Given the description of an element on the screen output the (x, y) to click on. 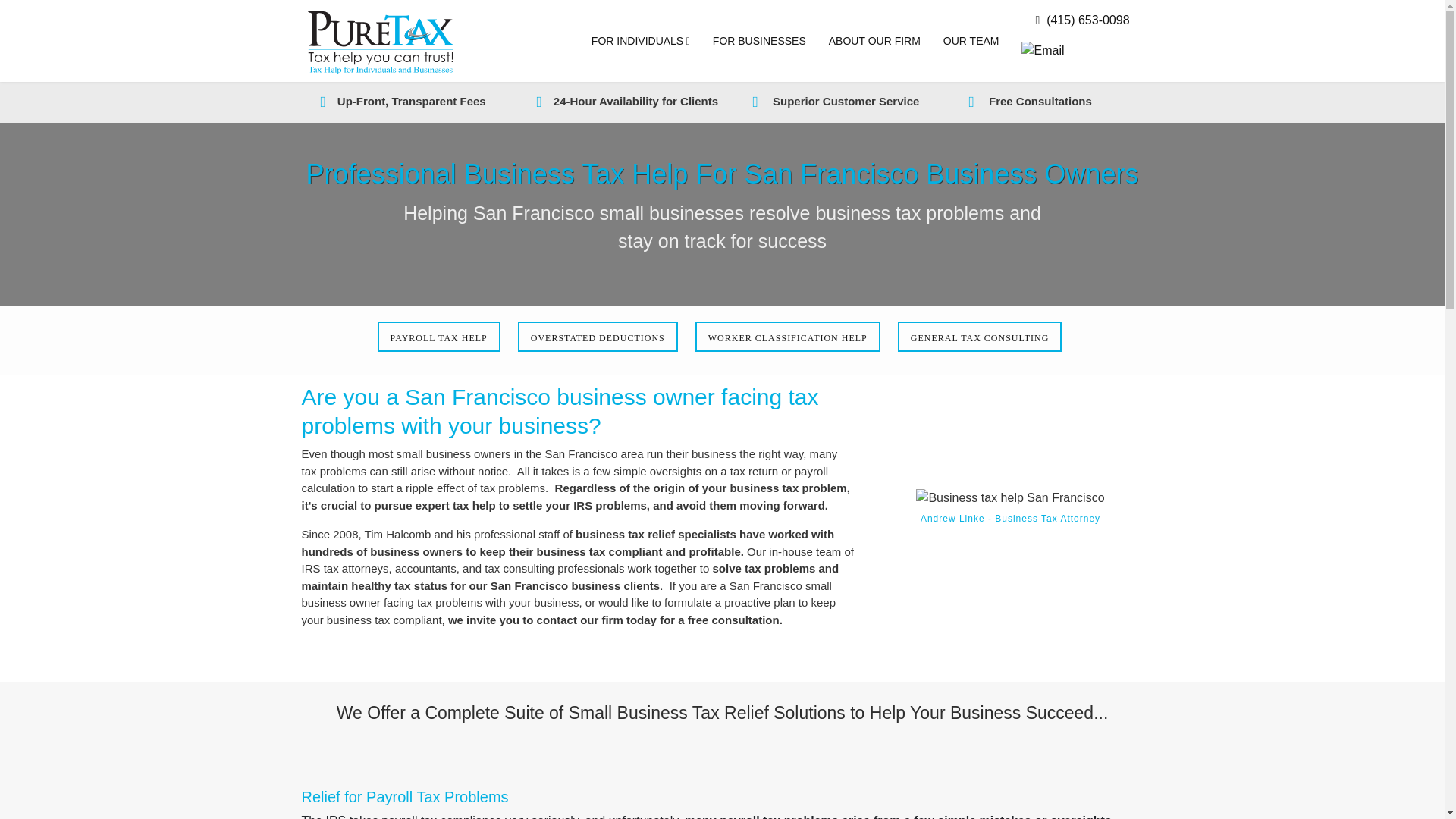
WORKER CLASSIFICATION HELP (787, 336)
Worker Classification Errors (787, 336)
OVERSTATED DEDUCTIONS (598, 336)
Andrew Linke - Business Tax Attorney (1009, 497)
Payroll Tax Help San Francisco (438, 336)
GENERAL TAX CONSULTING (980, 336)
FOR INDIVIDUALS (640, 41)
Tax Accounting and Bookkeeping (980, 336)
OUR TEAM (970, 40)
PAYROLL TAX HELP (438, 336)
